Given the description of an element on the screen output the (x, y) to click on. 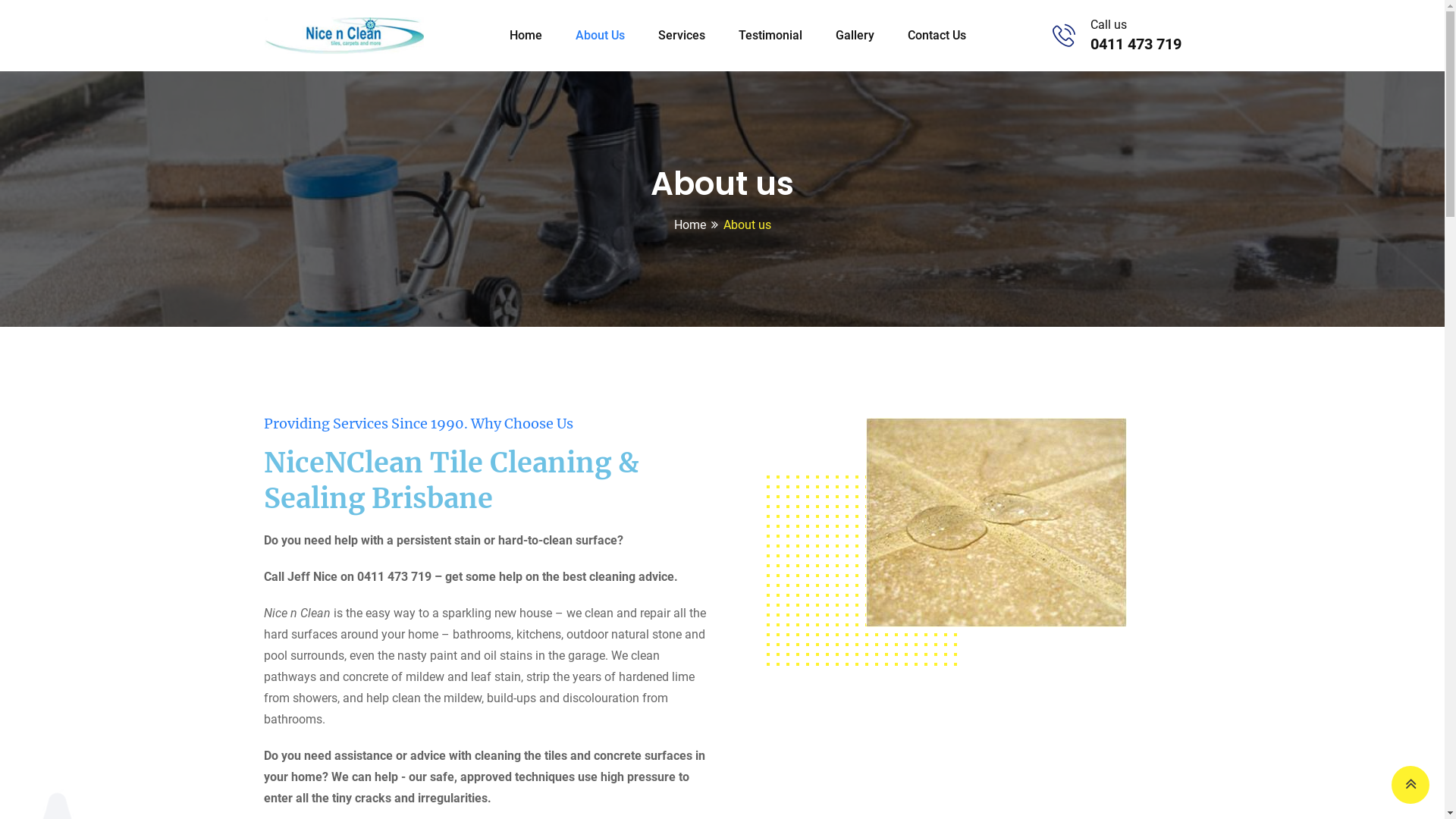
Home Element type: text (525, 35)
0411 473 719 Element type: text (1135, 43)
Testimonial Element type: text (770, 35)
Gallery Element type: text (854, 35)
About Us Element type: text (600, 35)
Services Element type: text (681, 35)
Contact Us Element type: text (936, 35)
Home Element type: text (689, 224)
